Given the description of an element on the screen output the (x, y) to click on. 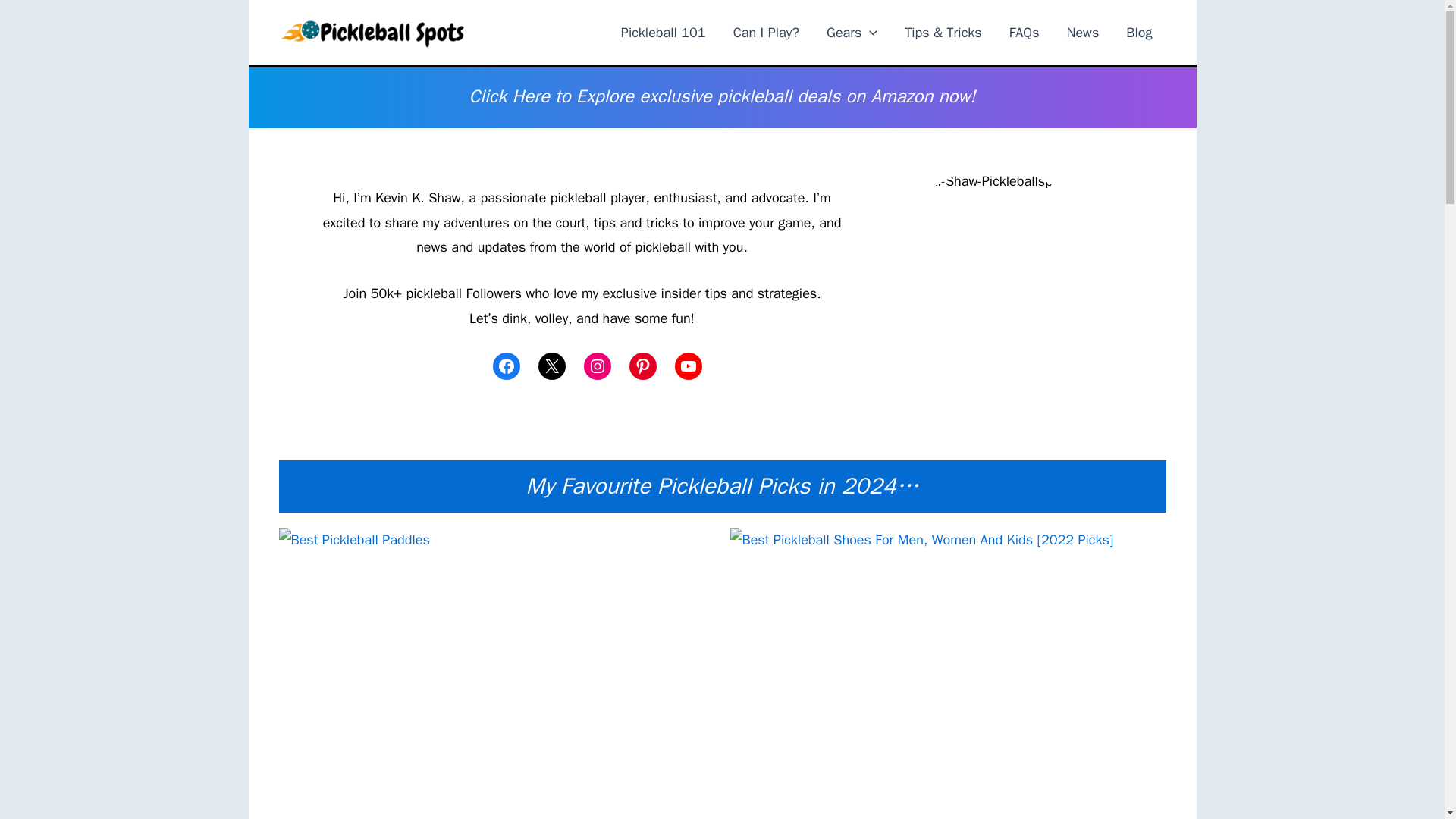
YouTube (688, 366)
Get pickleball related deals on Amazon. (721, 98)
Gears (851, 32)
Can I Play? (765, 32)
Facebook (506, 366)
FAQs (1023, 32)
Pickleball 101 (663, 32)
X (552, 366)
Instagram (597, 366)
News (1082, 32)
Pinterest (642, 366)
